Given the description of an element on the screen output the (x, y) to click on. 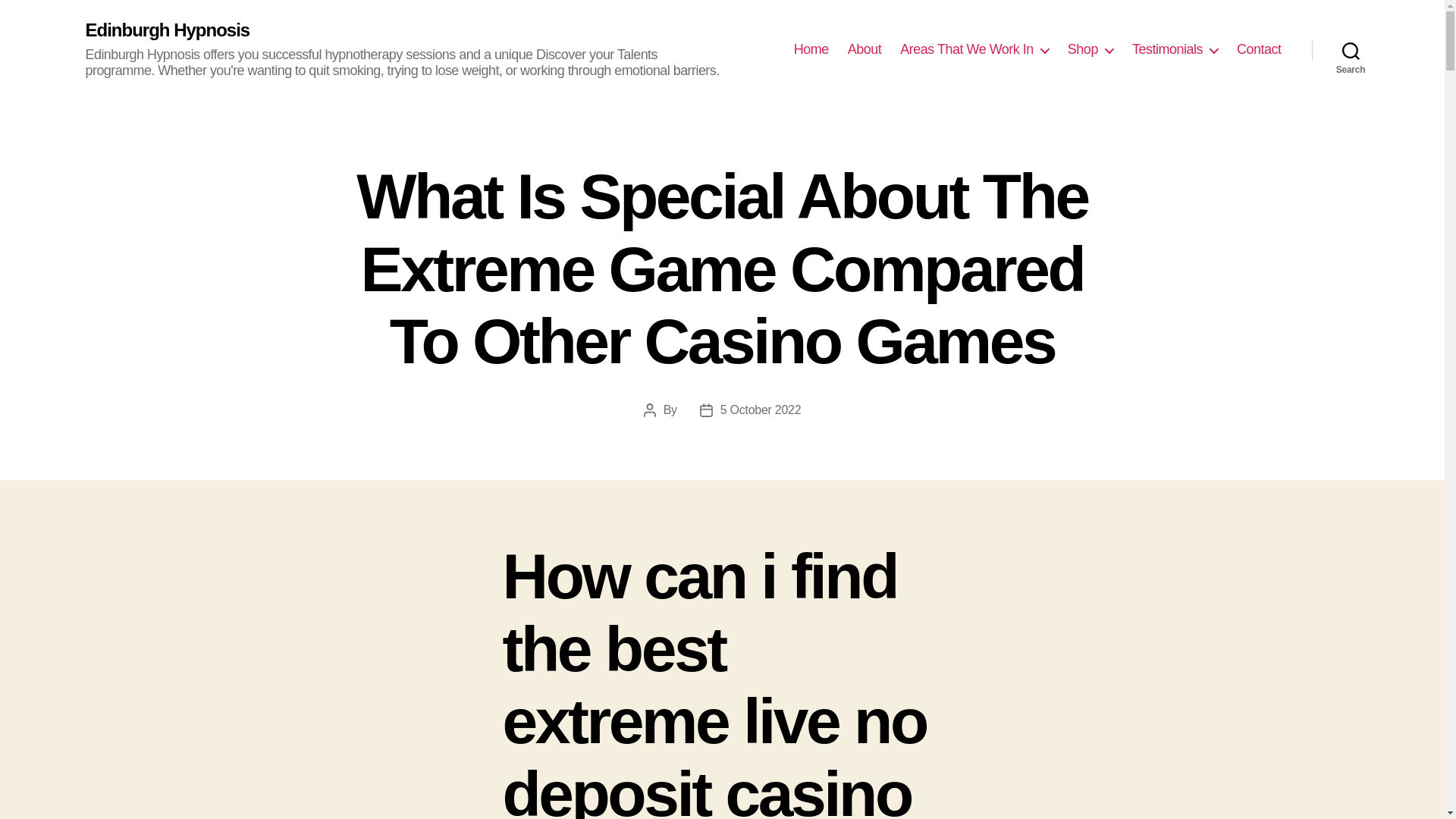
Contact (1258, 49)
Shop (1090, 49)
Search (1350, 49)
Edinburgh Hypnosis (166, 30)
About (864, 49)
Testimonials (1174, 49)
Home (810, 49)
Areas That We Work In (973, 49)
